Given the description of an element on the screen output the (x, y) to click on. 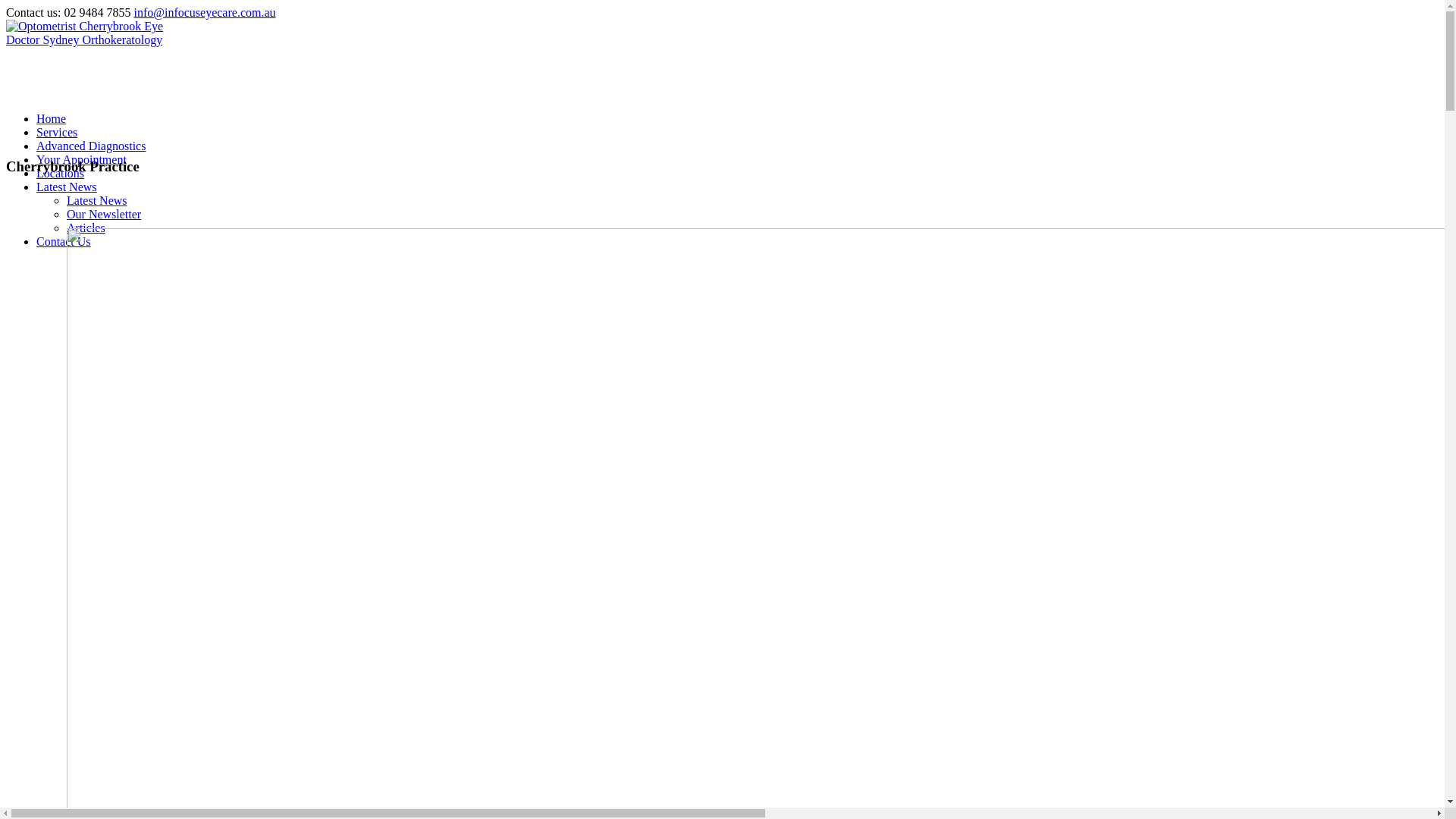
info@infocuseyecare.com.au Element type: text (204, 12)
Optometrist Cherrybrook Eye Doctor Sydney Orthokeratology Element type: hover (102, 39)
Locations Element type: text (60, 172)
Home Element type: text (50, 118)
Latest News Element type: text (66, 186)
Our Newsletter Element type: text (103, 213)
Your Appointment Element type: text (81, 159)
Services Element type: text (56, 131)
Articles Element type: text (85, 227)
Advanced Diagnostics Element type: text (90, 145)
Latest News Element type: text (96, 200)
Contact Us Element type: text (63, 241)
